Given the description of an element on the screen output the (x, y) to click on. 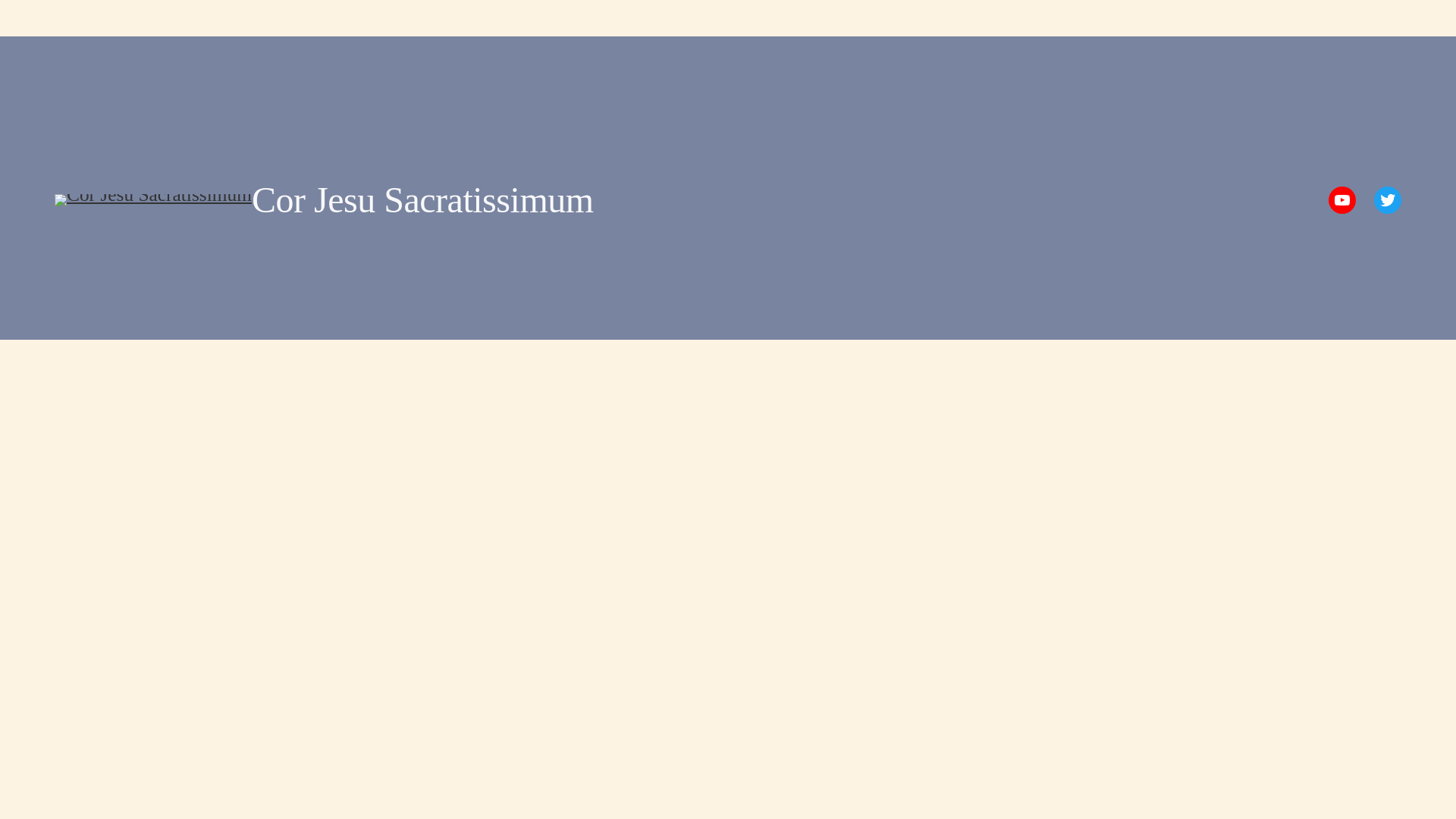
Twitter (1387, 199)
Cor Jesu Sacratissimum (422, 199)
Roger Buck (1341, 199)
